Given the description of an element on the screen output the (x, y) to click on. 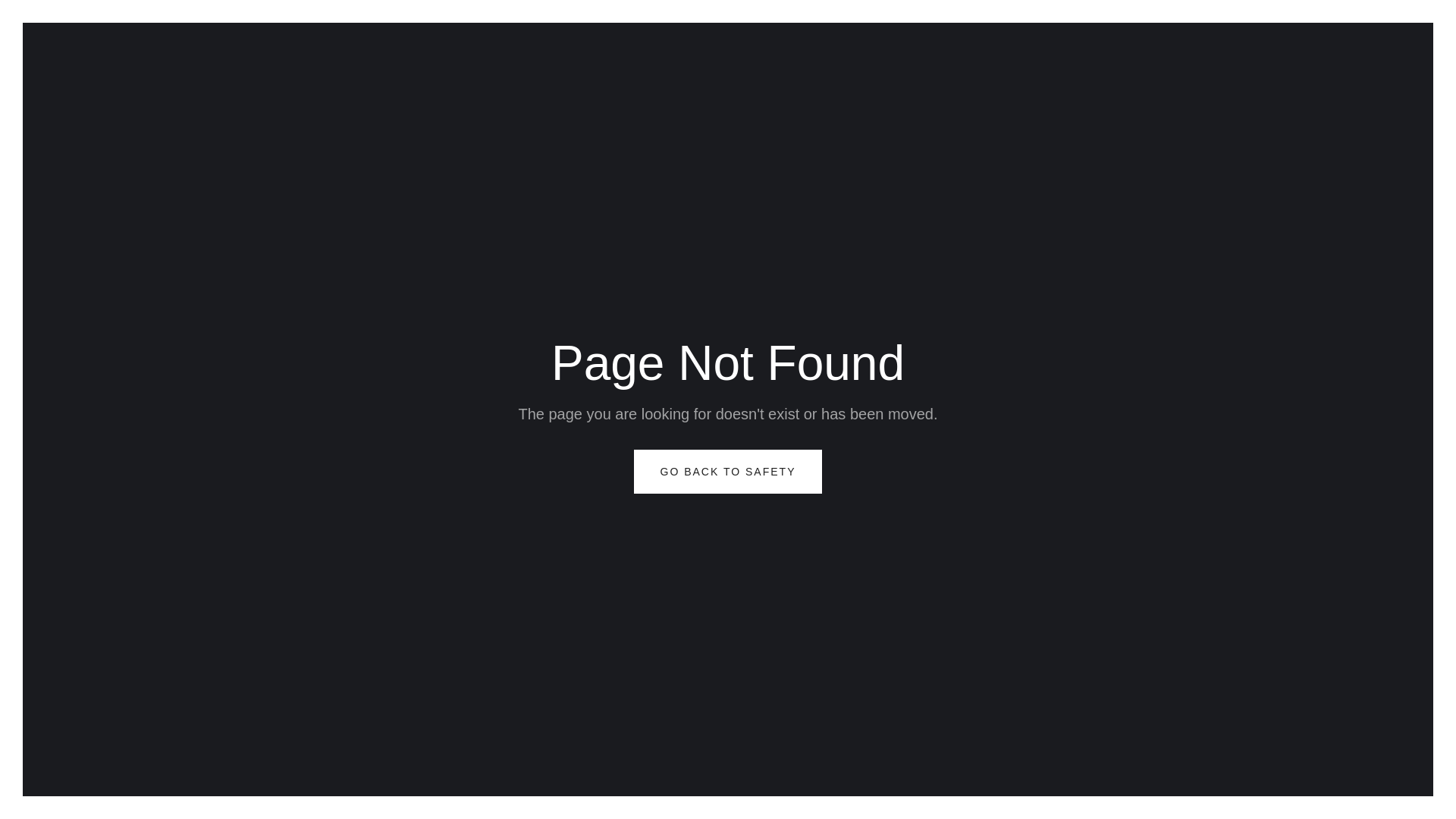
GO BACK TO SAFETY Element type: text (727, 471)
